Given the description of an element on the screen output the (x, y) to click on. 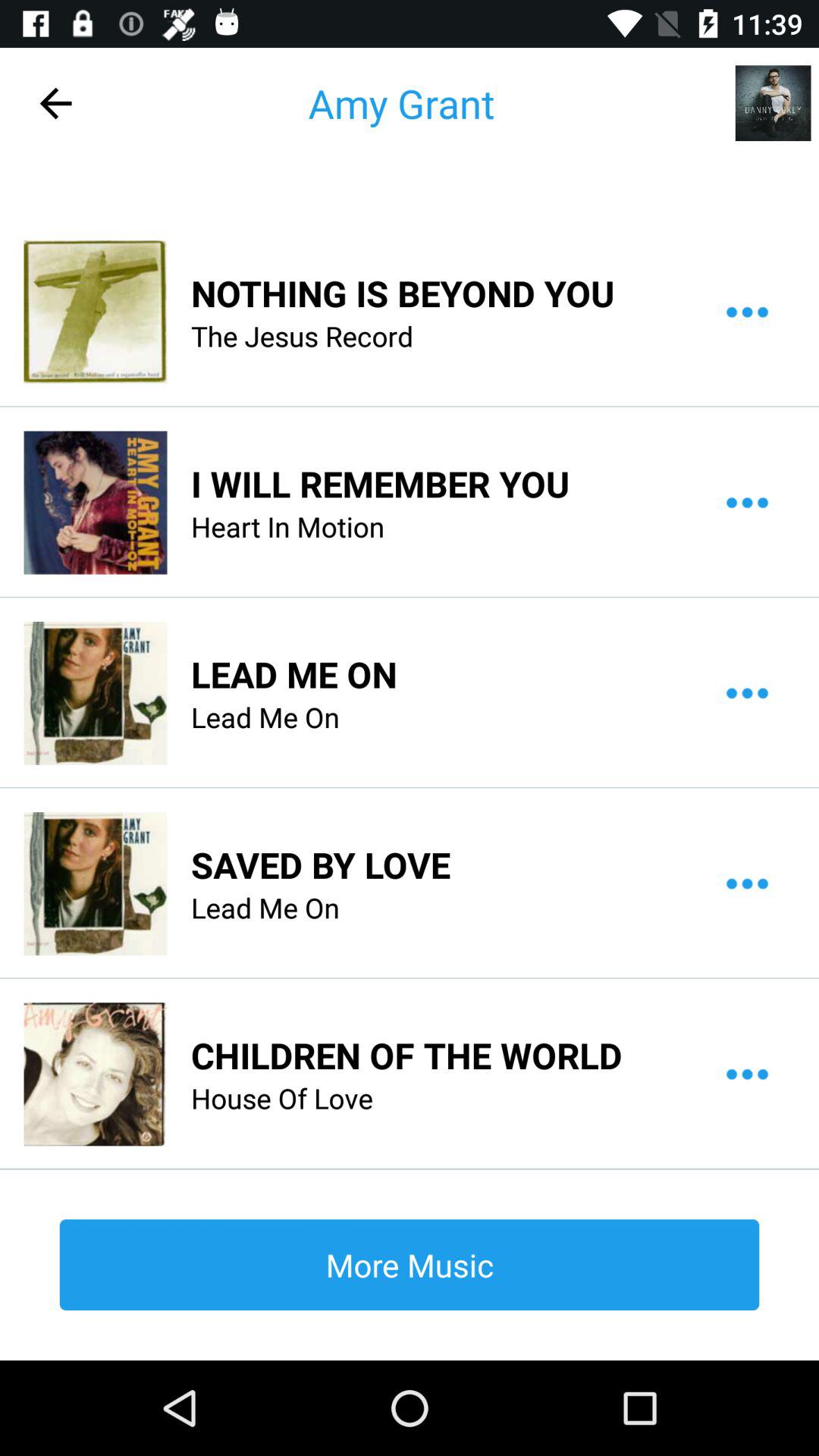
turn on icon below the amy grant (402, 293)
